Given the description of an element on the screen output the (x, y) to click on. 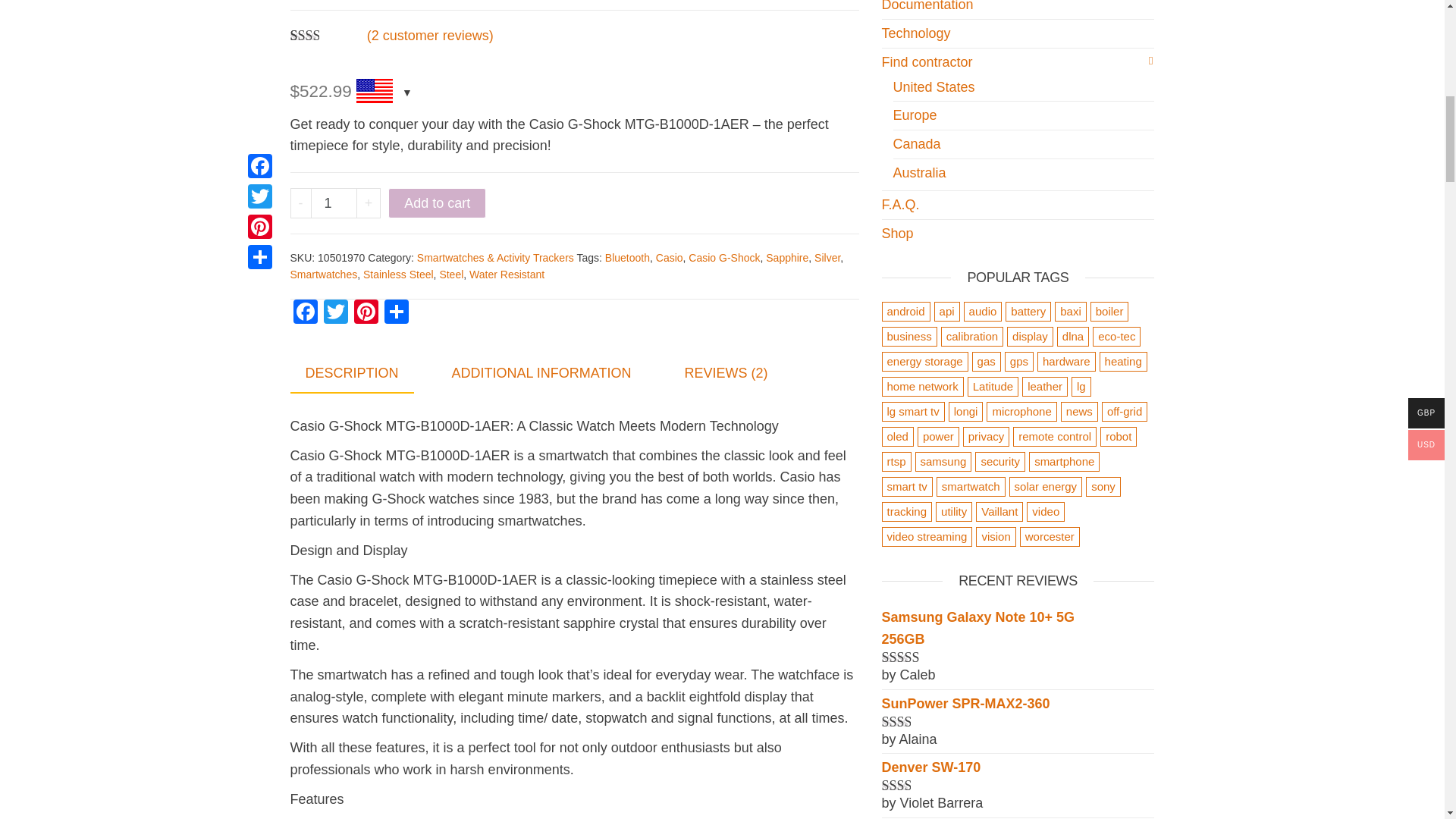
Add to cart (437, 203)
Smartwatches (322, 274)
Sapphire (786, 257)
ADDITIONAL INFORMATION (541, 373)
Casio G-Shock (724, 257)
Please select your currency (382, 92)
Facebook (304, 313)
DESCRIPTION (351, 373)
Pinterest (365, 313)
Twitter (335, 313)
